Given the description of an element on the screen output the (x, y) to click on. 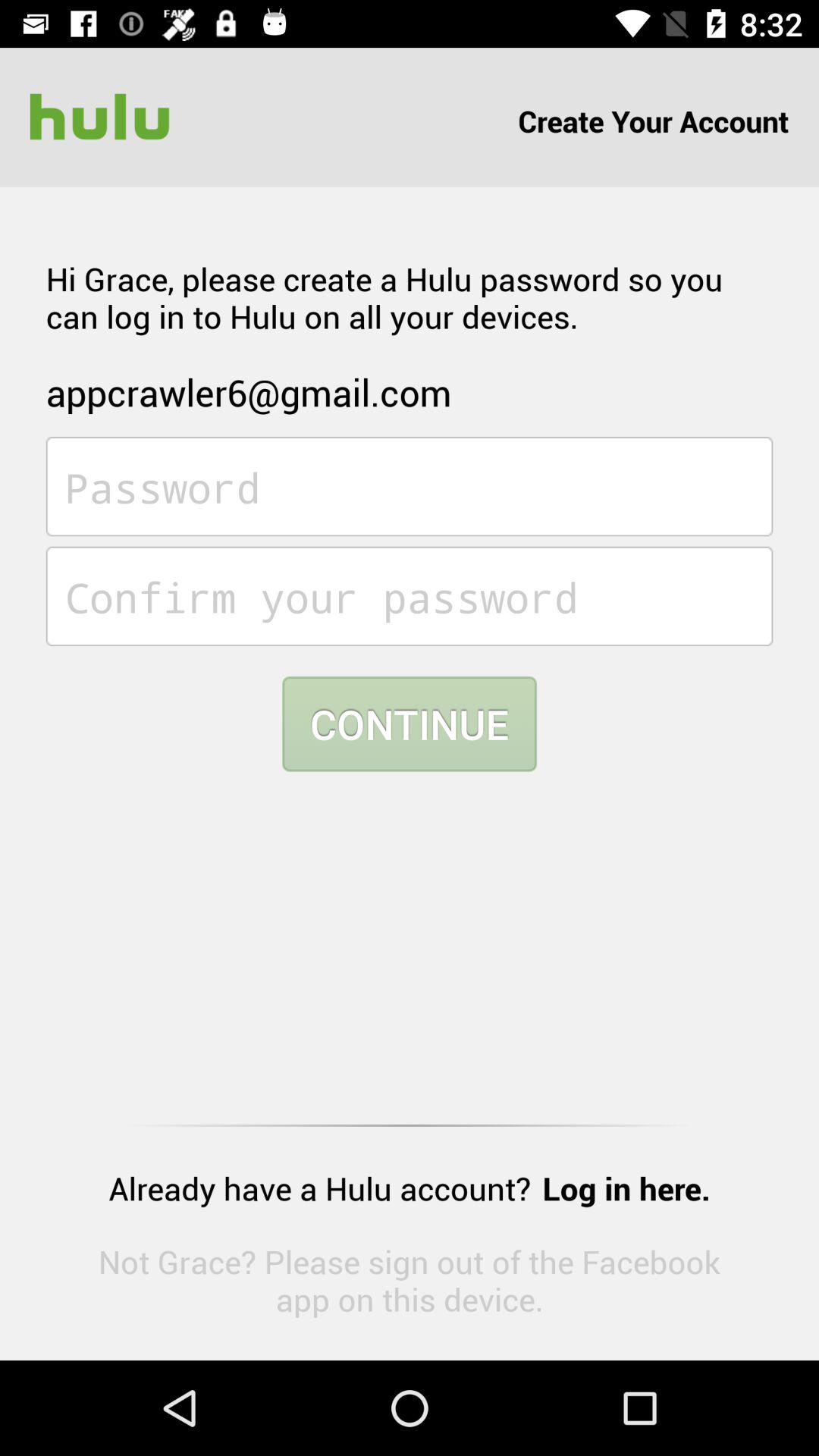
confirm password again (409, 596)
